Given the description of an element on the screen output the (x, y) to click on. 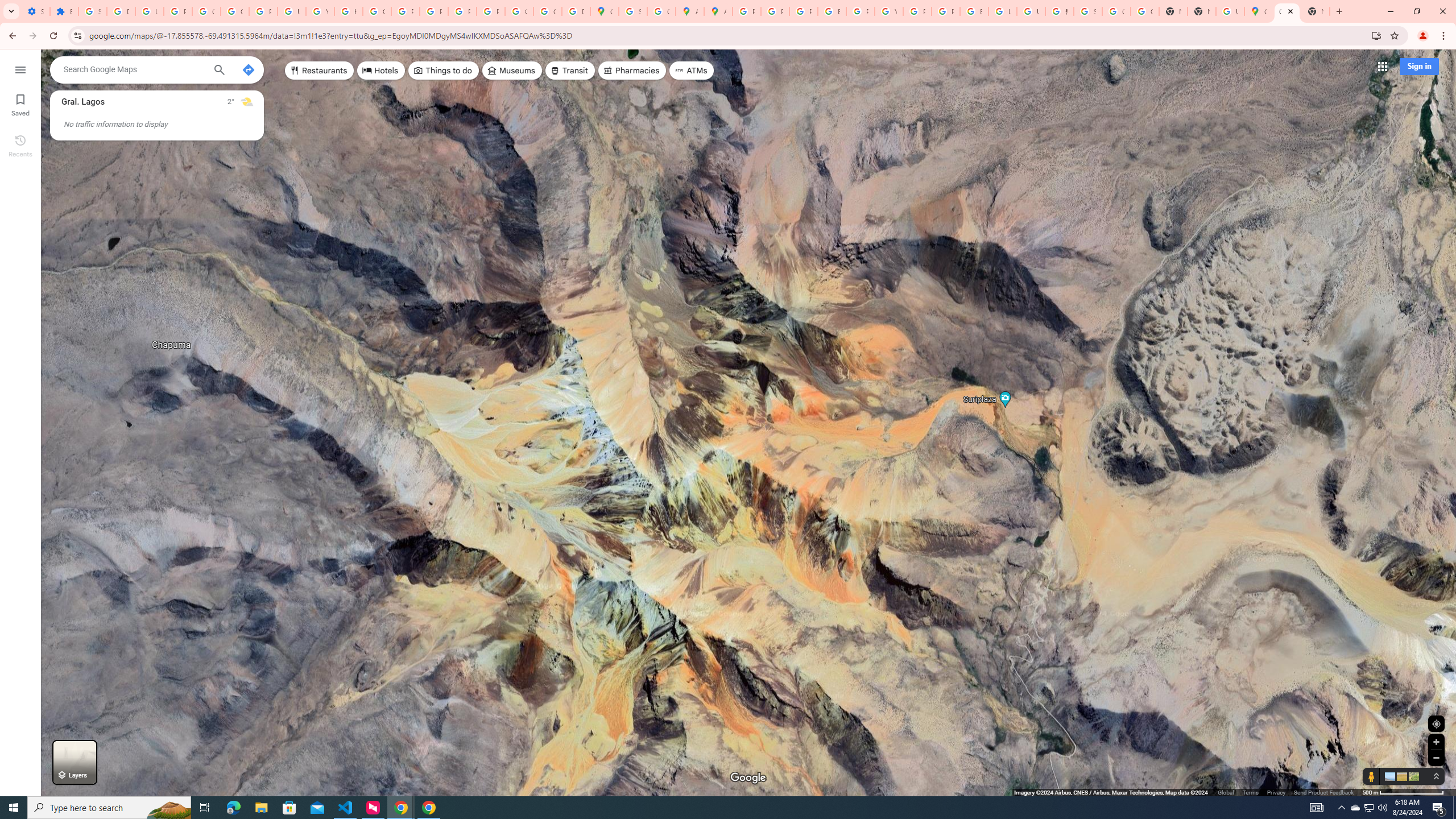
Search Google Maps (133, 69)
Privacy Help Center - Policies Help (405, 11)
Pharmacies (632, 70)
YouTube (320, 11)
Transit (569, 70)
Things to do (443, 70)
https://scholar.google.com/ (348, 11)
Show Street View coverage (1371, 776)
